Given the description of an element on the screen output the (x, y) to click on. 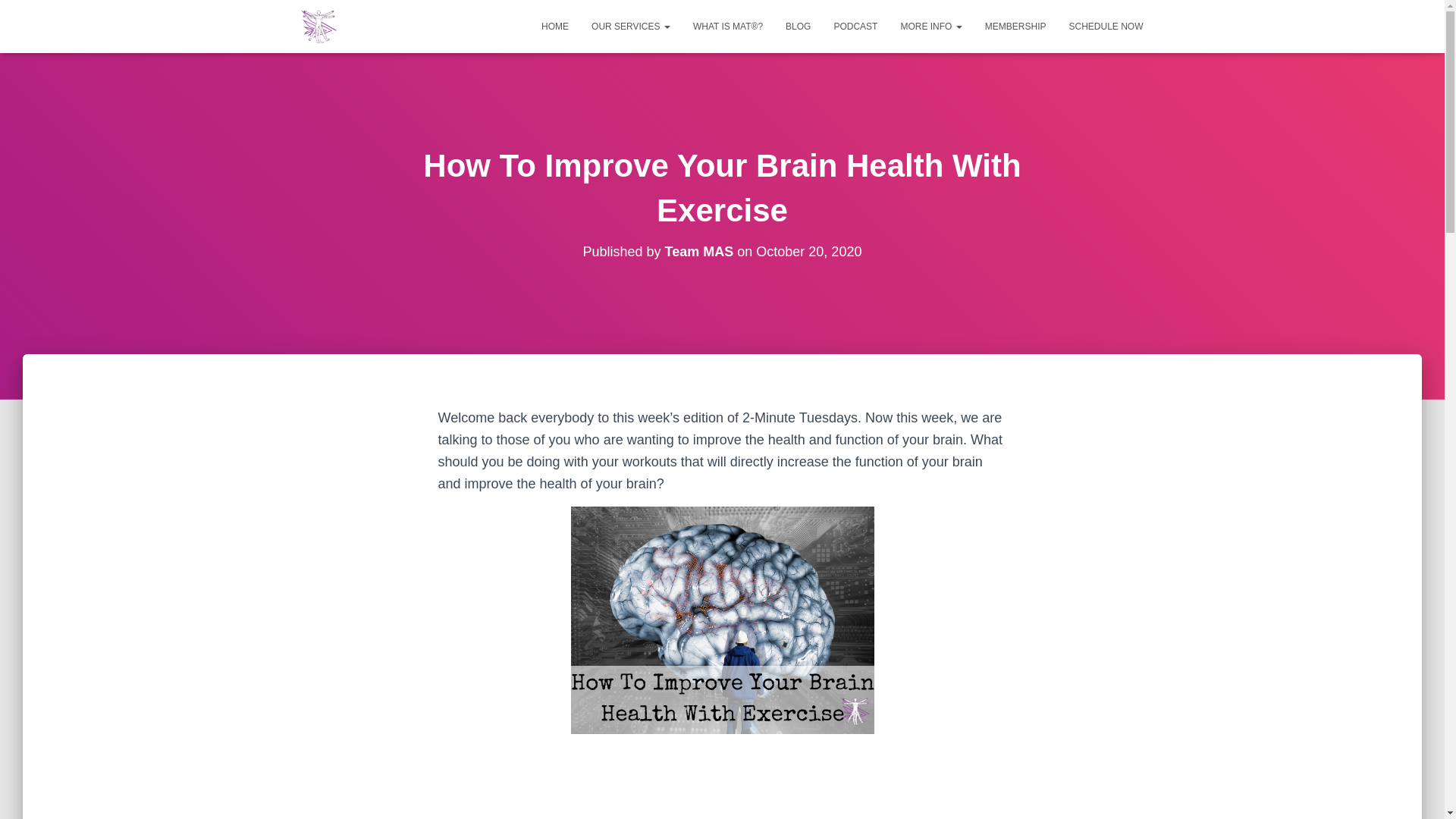
Team MAS (699, 251)
More Info (930, 26)
MORE INFO (930, 26)
Muscle Activation Schaumburg (318, 26)
Blog (798, 26)
Home (554, 26)
OUR SERVICES (630, 26)
Our Services (630, 26)
Podcast (855, 26)
MEMBERSHIP (1016, 26)
